Given the description of an element on the screen output the (x, y) to click on. 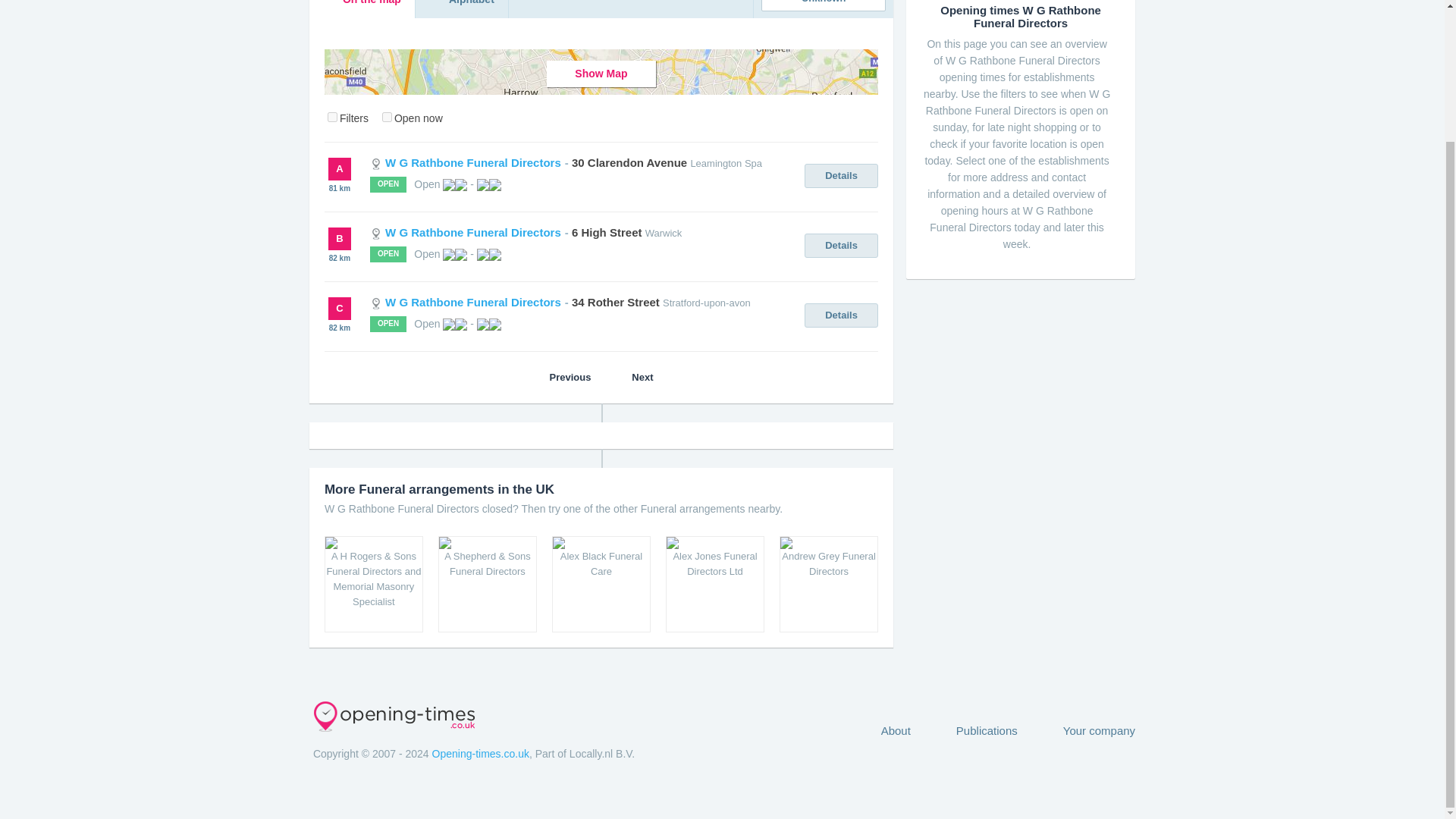
Alex Black Funeral Care (600, 584)
Unknown (823, 5)
W G Rathbone Funeral Directors - On the map (361, 9)
W G Rathbone Funeral Directors - Alphabet (461, 9)
map (332, 117)
Details (841, 315)
Alex Jones Funeral Directors Ltd (714, 584)
Alphabet (461, 9)
Details (841, 245)
Andrew Grey Funeral Directors (827, 584)
On the map (361, 9)
Previous (560, 377)
Show Map (601, 73)
Details (841, 175)
